Given the description of an element on the screen output the (x, y) to click on. 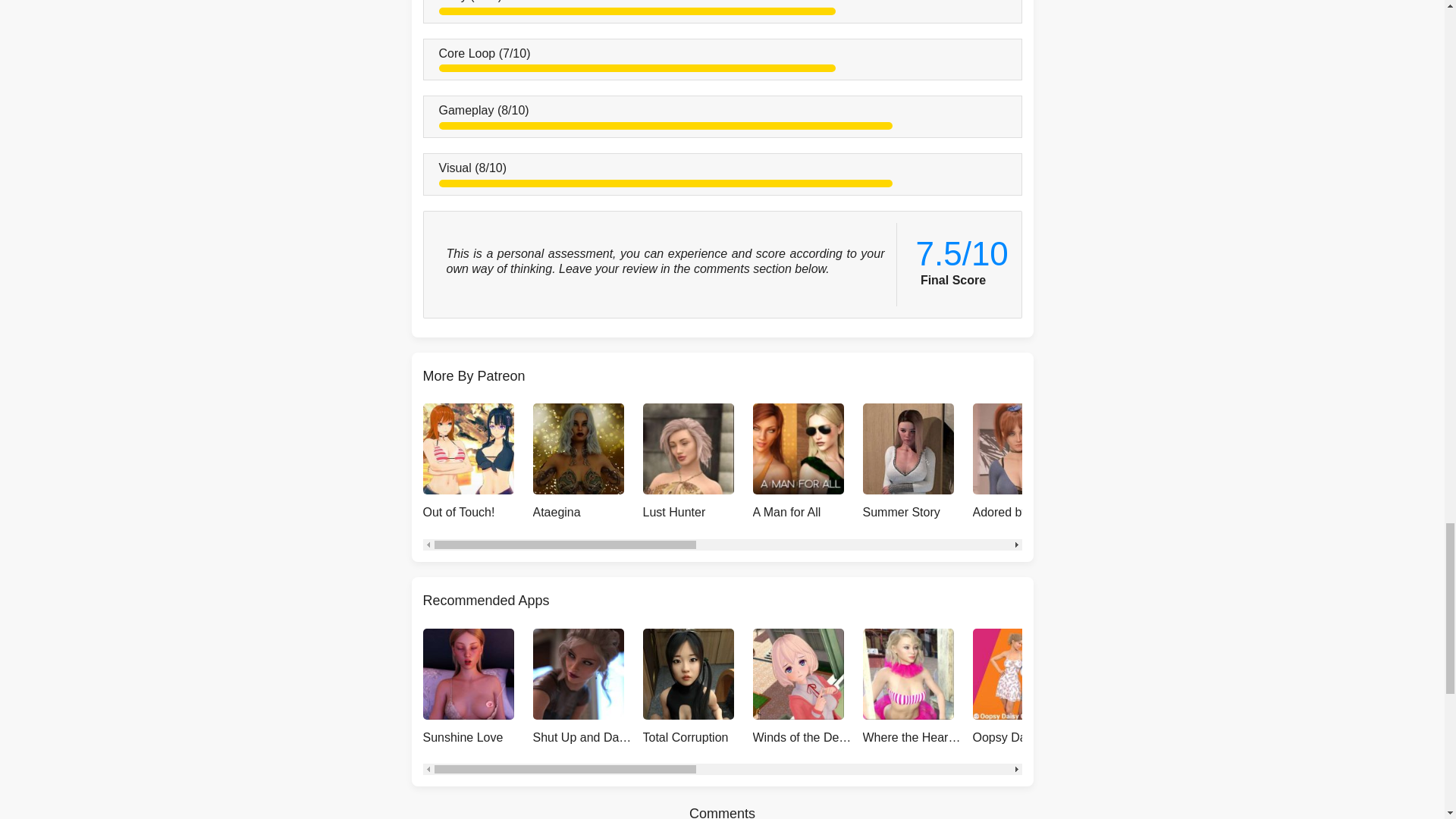
Lust Hunter (697, 463)
Out of Touch! (477, 463)
A Man for All (806, 463)
Ataegina (587, 463)
Total Maidness! (1246, 463)
Adored by the Devil (1026, 463)
Left Hand Magic (1137, 463)
Summer Story (917, 463)
